Given the description of an element on the screen output the (x, y) to click on. 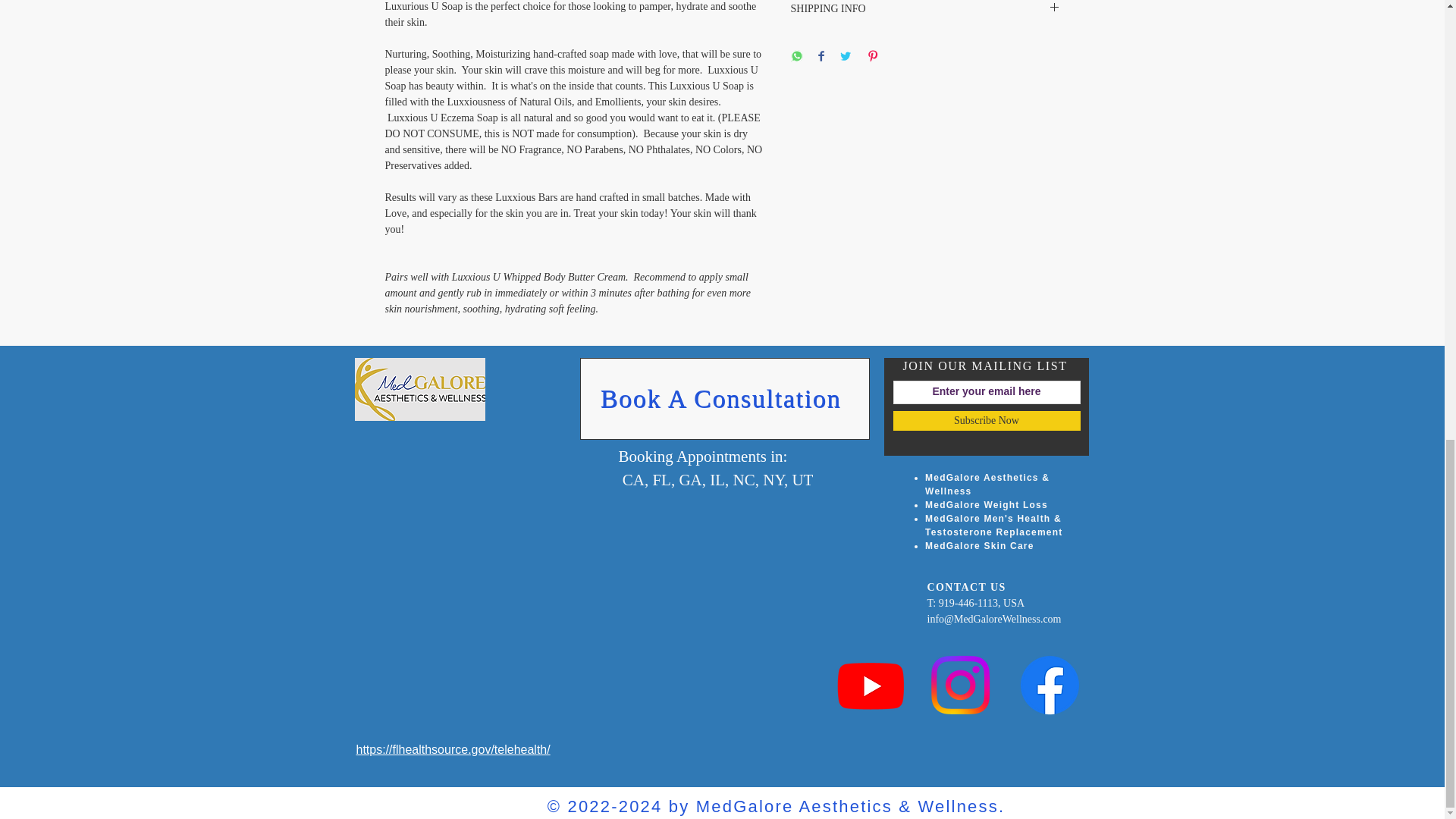
SHIPPING INFO (924, 9)
